Given the description of an element on the screen output the (x, y) to click on. 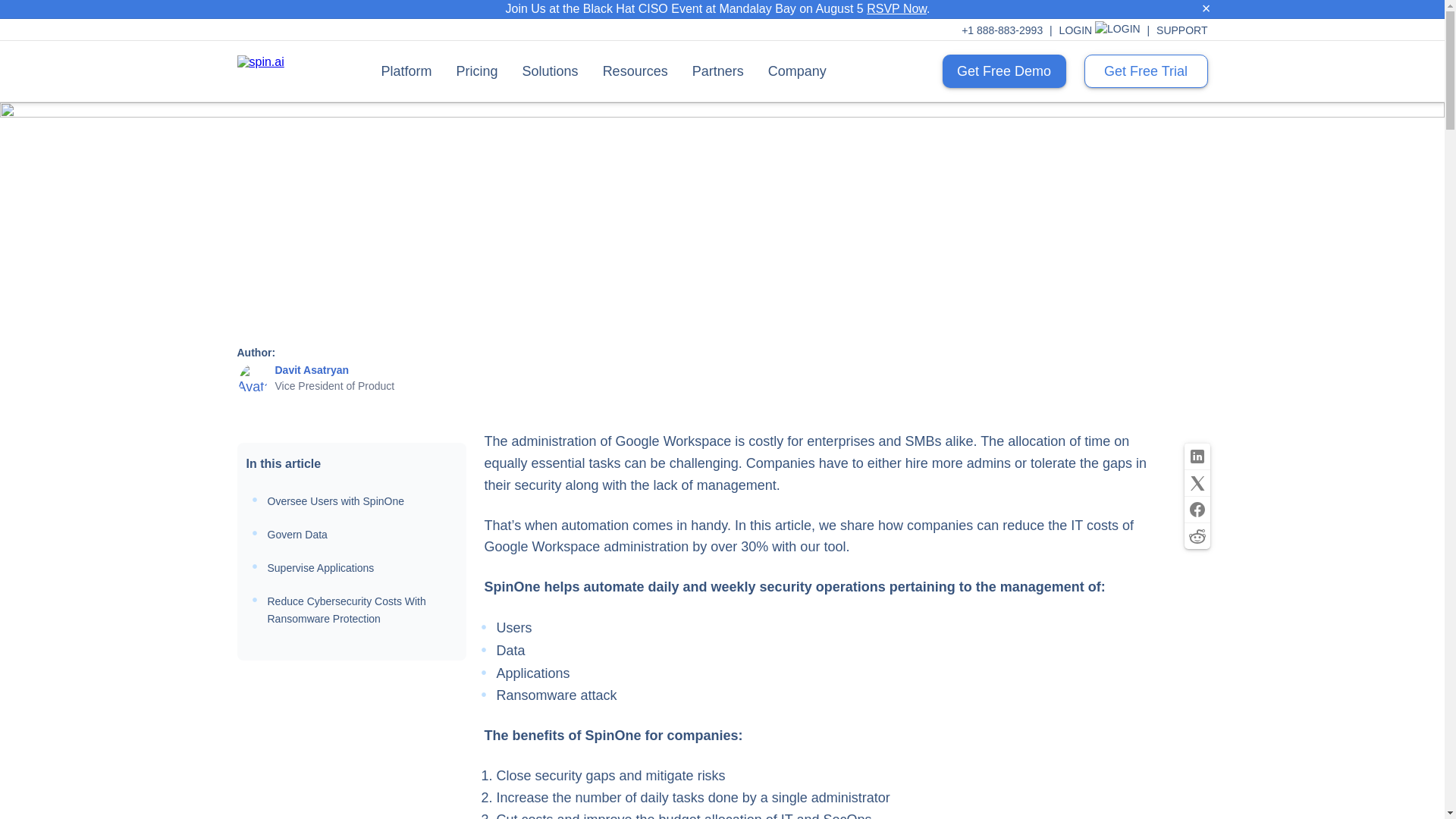
Posts by Davit Asatryan (312, 369)
Spin.ai Home (284, 71)
RSVP Now (896, 8)
Pricing (477, 70)
Spin.AI Blog (315, 132)
Home (252, 132)
SUPPORT (1181, 30)
Solutions (551, 70)
LOGIN (1106, 30)
Platform (406, 70)
Resources (635, 70)
